Given the description of an element on the screen output the (x, y) to click on. 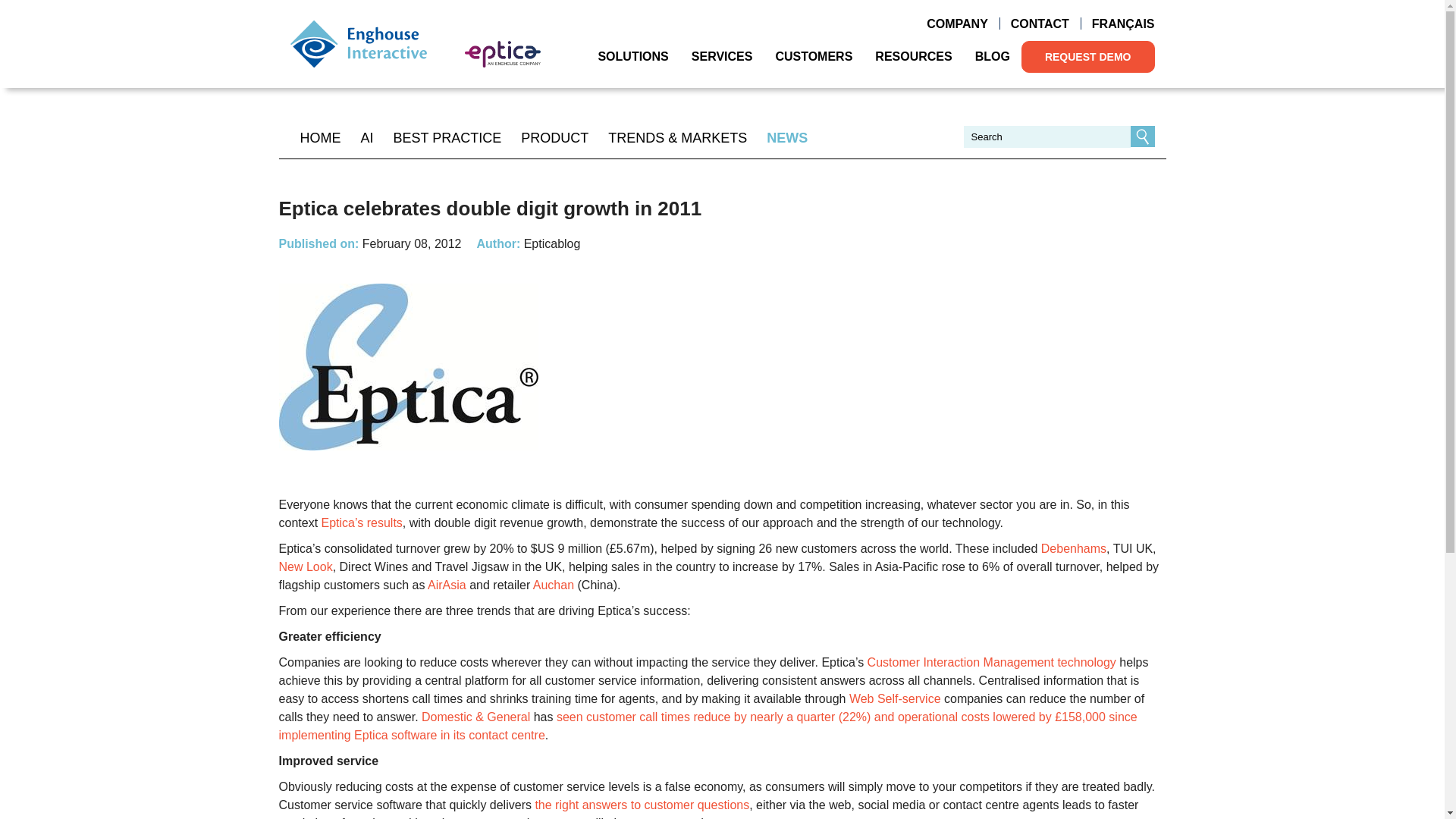
SOLUTIONS (632, 56)
SERVICES (721, 56)
RESOURCES (913, 56)
Home (357, 43)
Auchan (552, 584)
COMPANY (956, 24)
CONTACT (1039, 24)
Search (1141, 136)
Debenhams (1073, 548)
CUSTOMERS (812, 56)
